Given the description of an element on the screen output the (x, y) to click on. 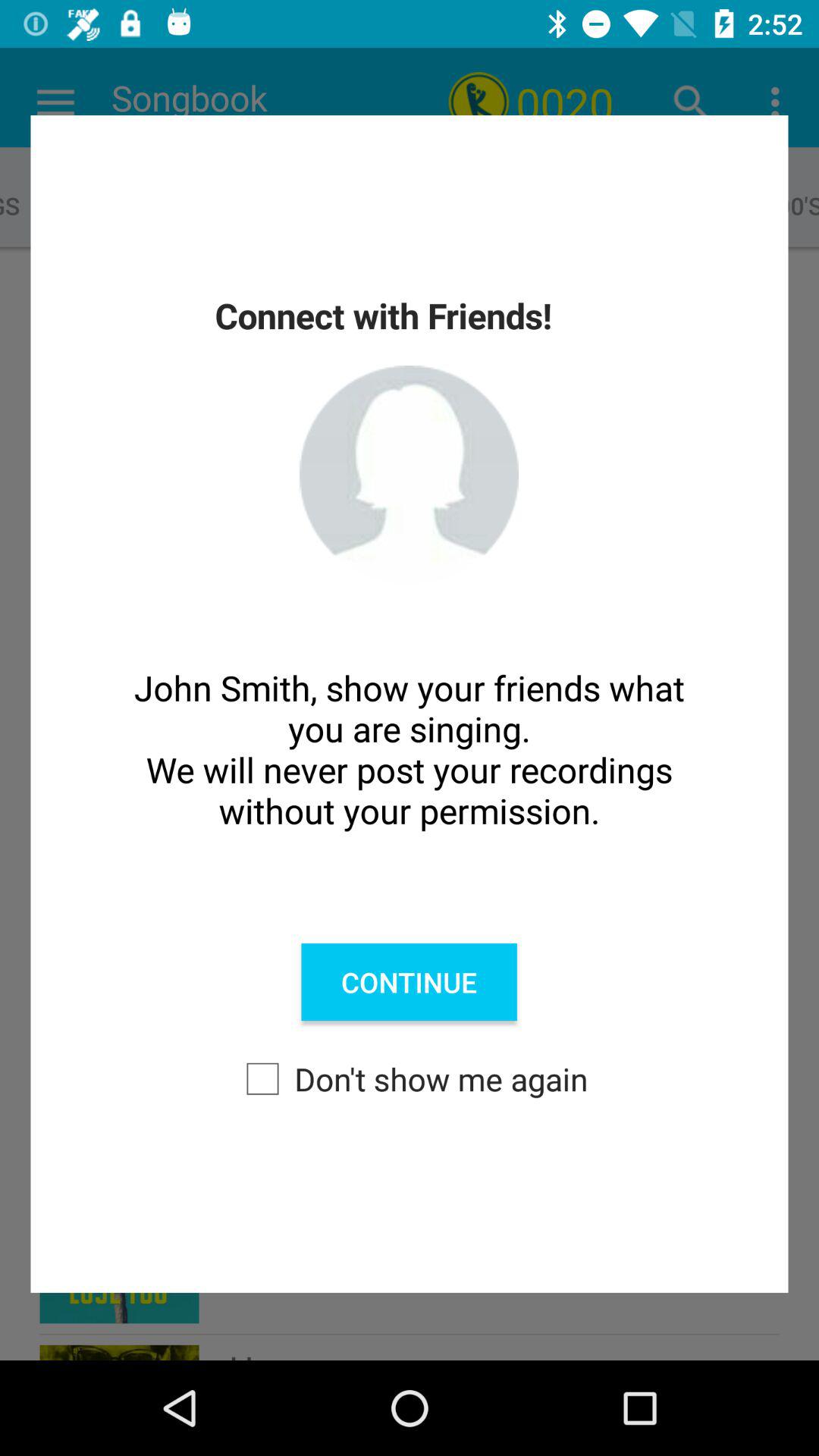
choose the continue item (408, 981)
